Given the description of an element on the screen output the (x, y) to click on. 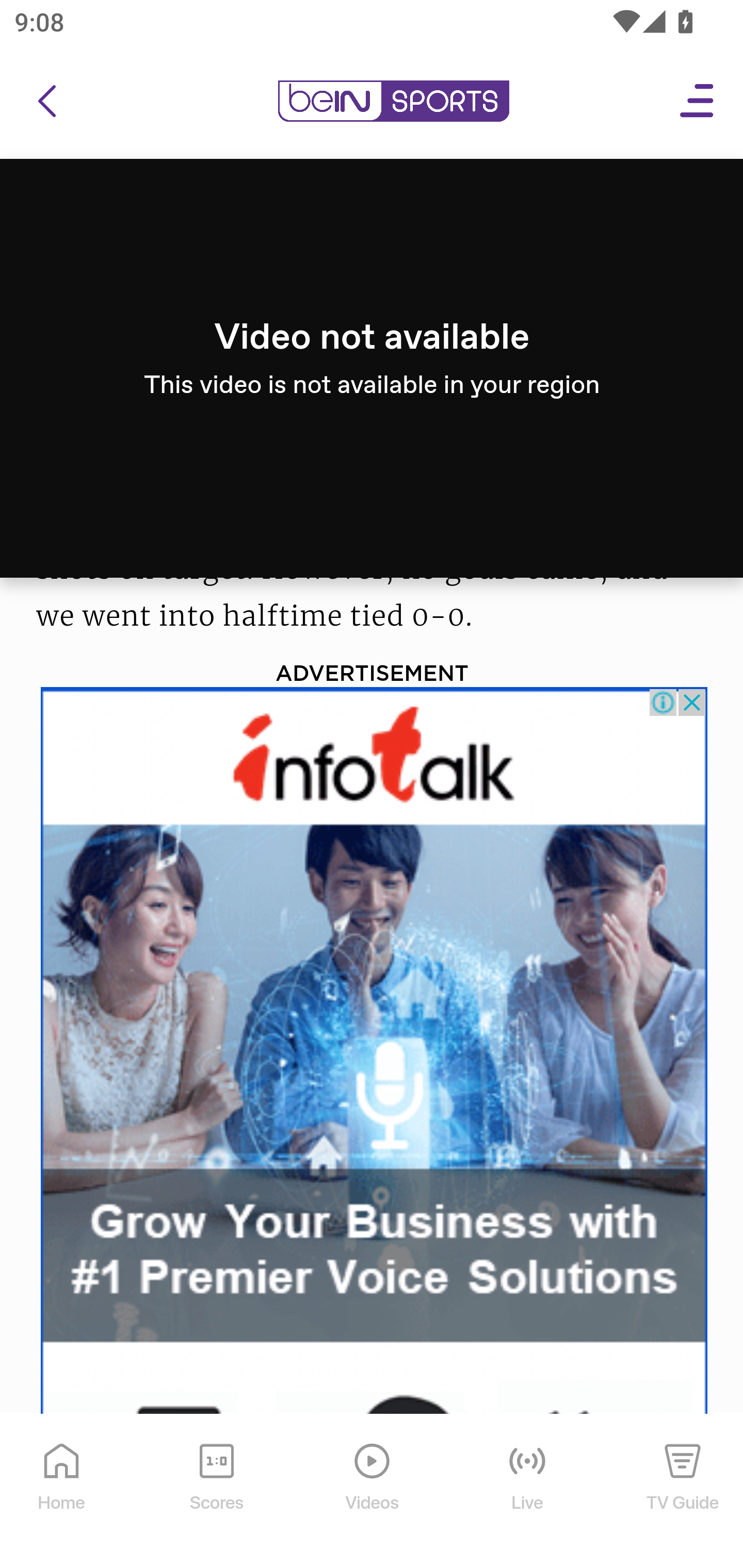
en-us?platform=mobile_android bein logo (392, 101)
icon back (46, 101)
Open Menu Icon (697, 101)
Home Home Icon Home (61, 1491)
Scores Scores Icon Scores (216, 1491)
Videos Videos Icon Videos (372, 1491)
TV Guide TV Guide Icon TV Guide (682, 1491)
